Given the description of an element on the screen output the (x, y) to click on. 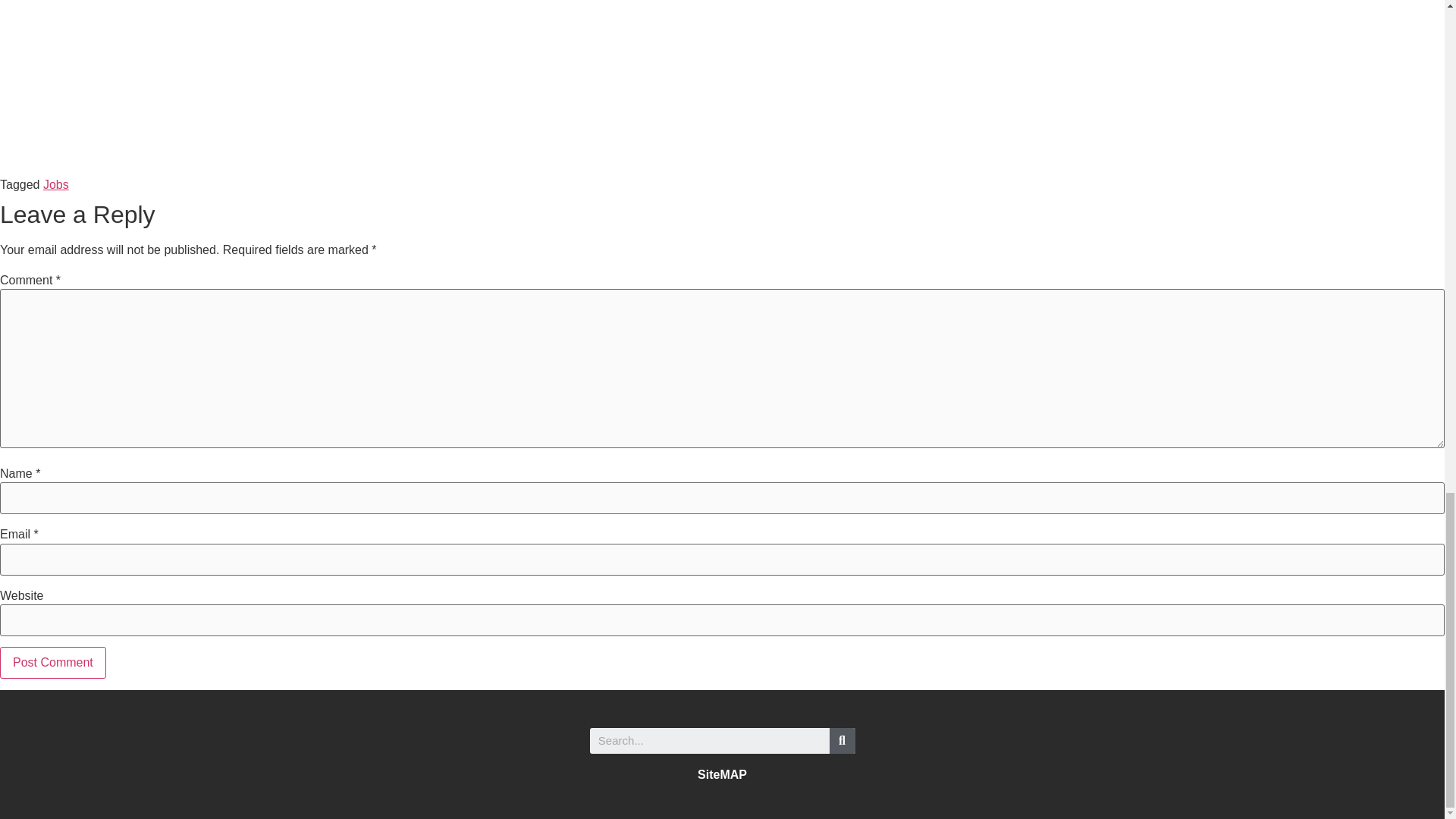
Search (842, 740)
Post Comment (53, 662)
SiteMAP (721, 774)
Post Comment (53, 662)
Jobs (55, 184)
Search (709, 740)
